Given the description of an element on the screen output the (x, y) to click on. 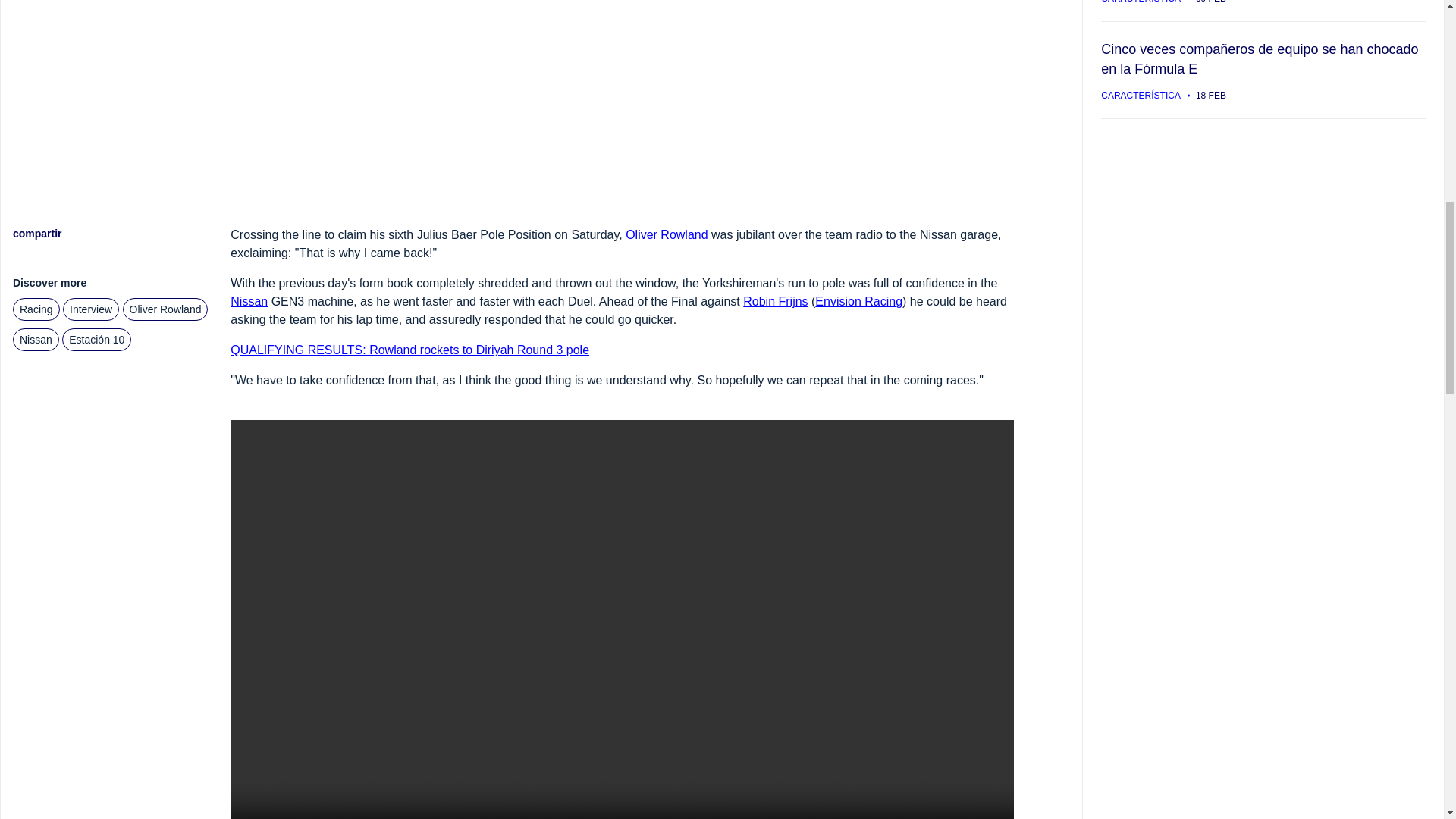
label.discover.search oliver rowland (165, 309)
label.discover.search racing (36, 309)
label.discover.search 10 (96, 339)
label.discover.search interview (90, 309)
label.discover.search nissan (36, 339)
